Given the description of an element on the screen output the (x, y) to click on. 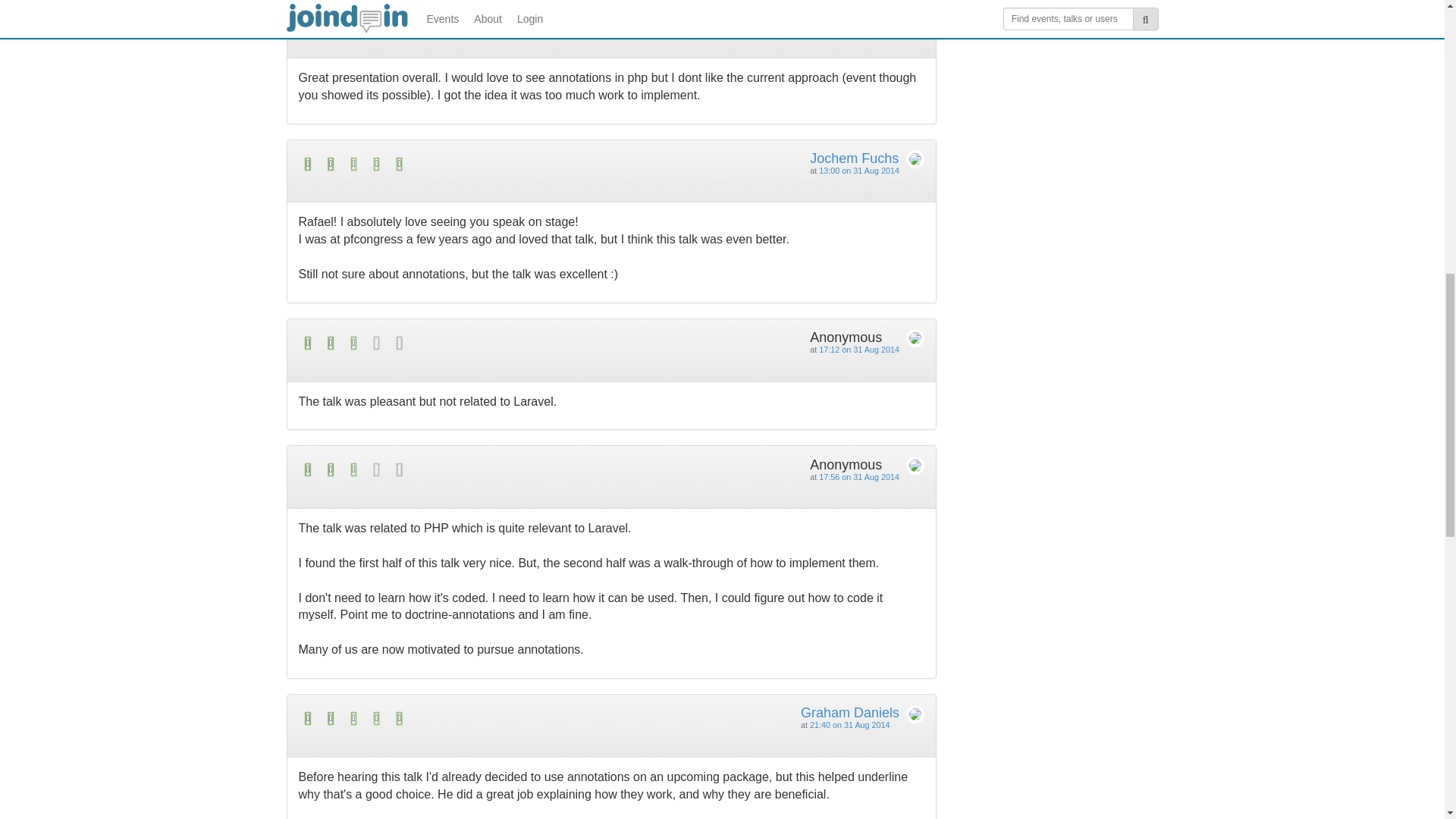
Graham Daniels (849, 712)
21:40 on 31 Aug 2014 (849, 724)
12:37 on 31 Aug 2014 (858, 25)
17:56 on 31 Aug 2014 (858, 476)
17:12 on 31 Aug 2014 (858, 348)
Rated 3 (454, 469)
Rated 4 (454, 18)
Rated 5 (454, 163)
13:00 on 31 Aug 2014 (858, 170)
Rated 3 (454, 342)
Peter Bosma (848, 14)
Jochem Fuchs (853, 158)
Rated 5 (454, 718)
